Given the description of an element on the screen output the (x, y) to click on. 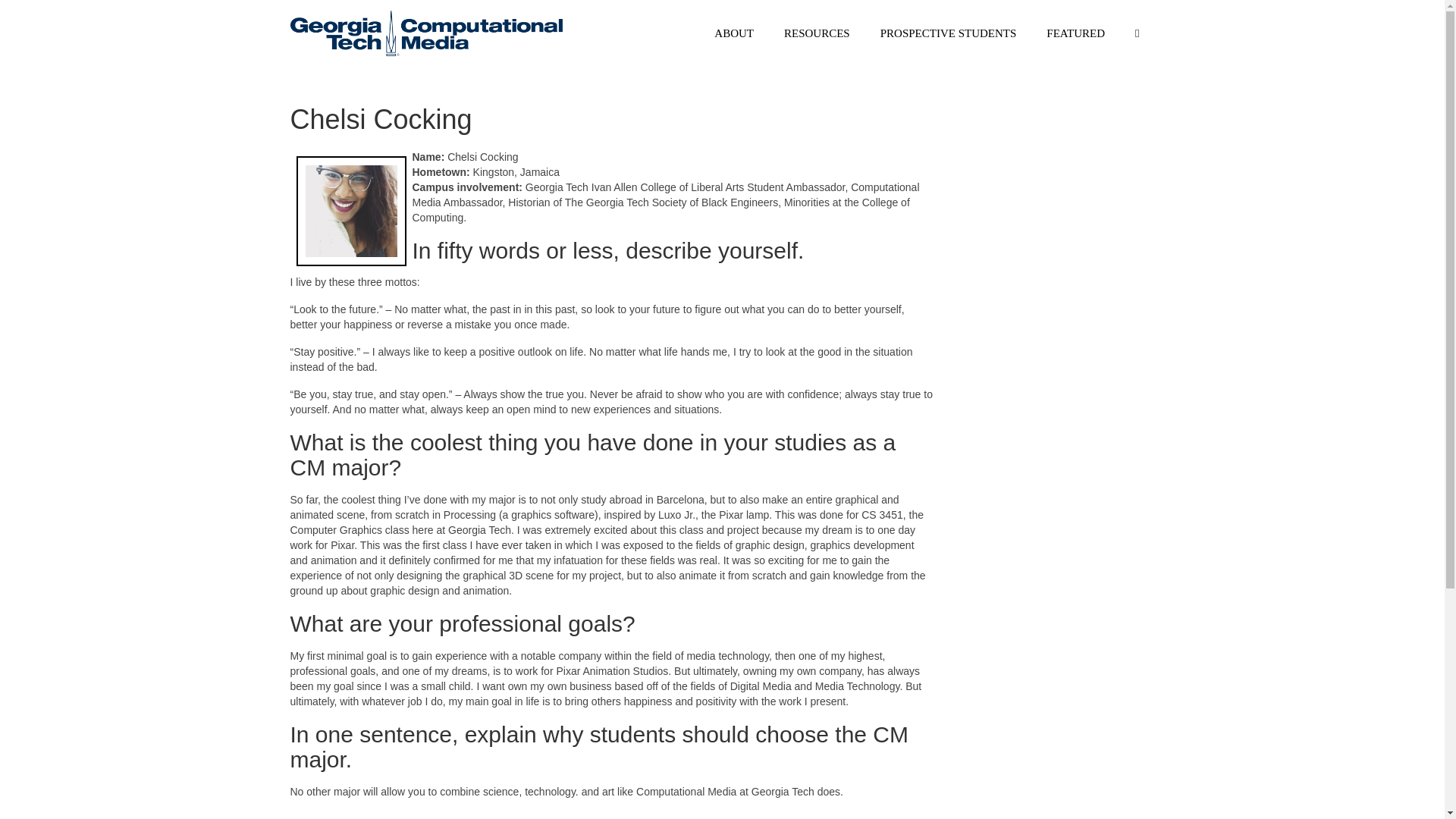
RESOURCES (816, 33)
ABOUT (733, 33)
PROSPECTIVE STUDENTS (948, 33)
FEATURED (1074, 33)
Computational Media (425, 33)
